Given the description of an element on the screen output the (x, y) to click on. 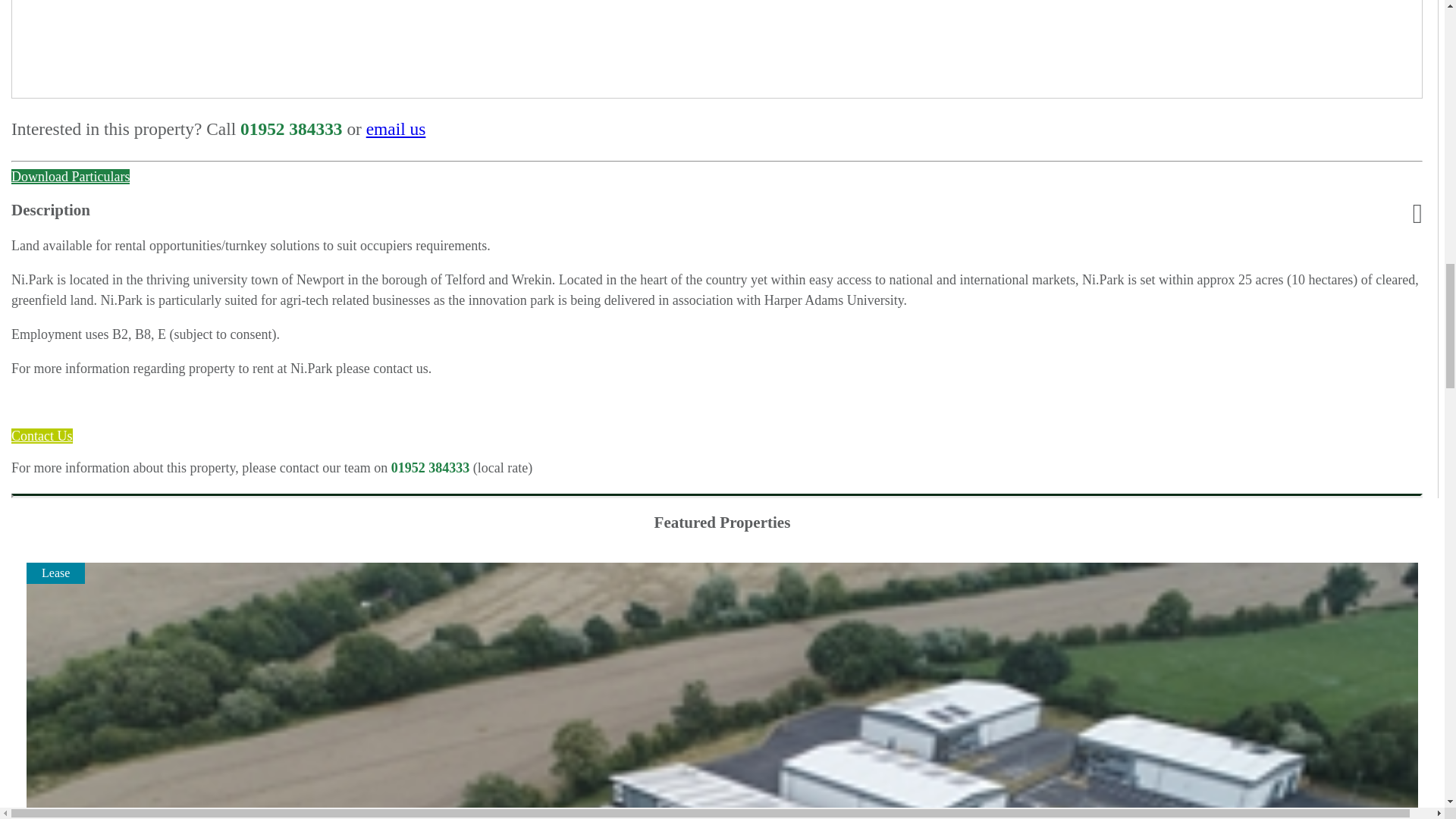
Contact Us (41, 435)
email us (396, 128)
Download Particulars (70, 176)
